Given the description of an element on the screen output the (x, y) to click on. 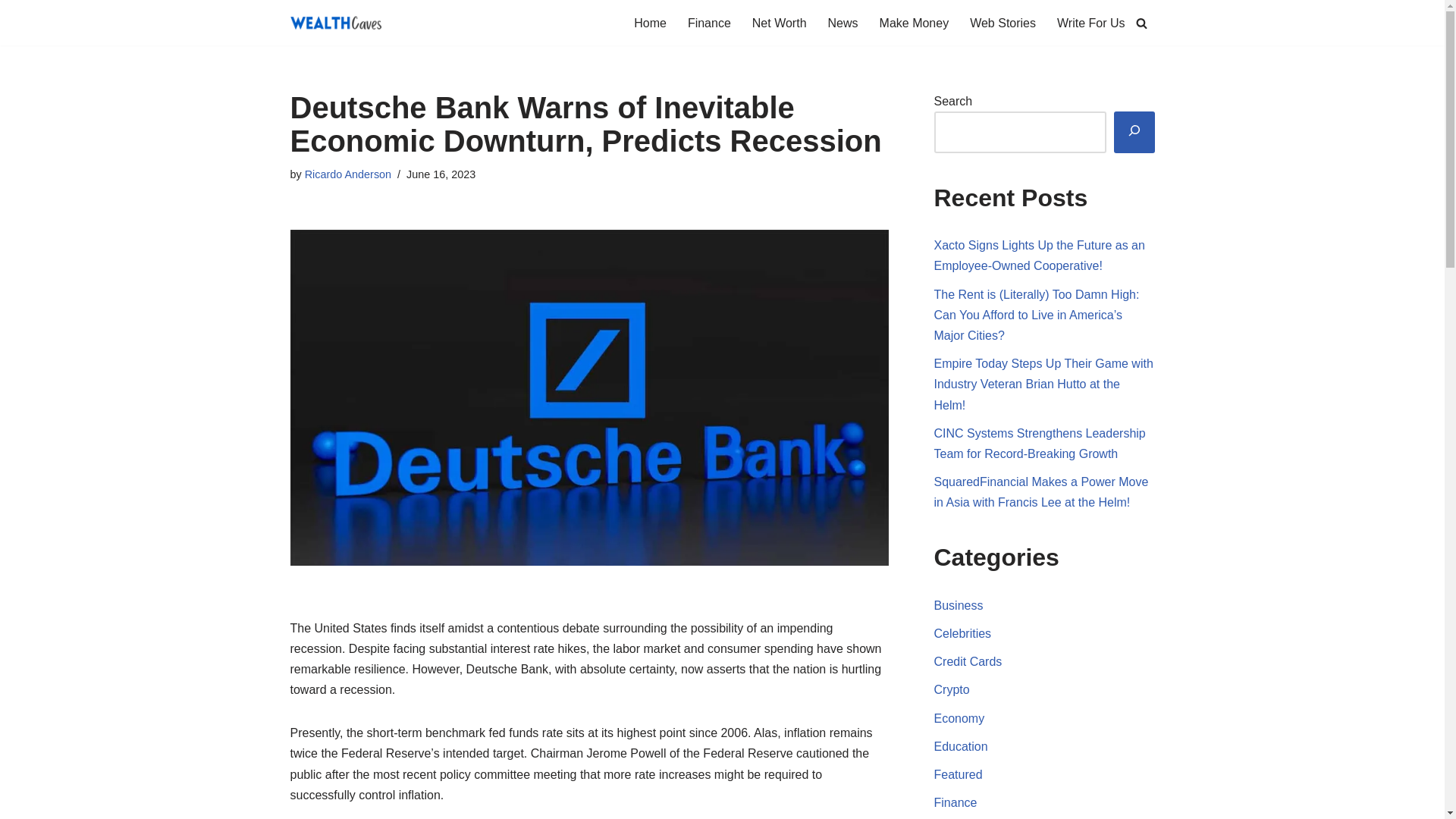
Posts by Ricardo Anderson (347, 174)
Make Money (914, 23)
Home (649, 23)
Credit Cards (968, 661)
Business (959, 604)
Web Stories (1002, 23)
Net Worth (779, 23)
News (843, 23)
Ricardo Anderson (347, 174)
Celebrities (962, 633)
Write For Us (1090, 23)
